Given the description of an element on the screen output the (x, y) to click on. 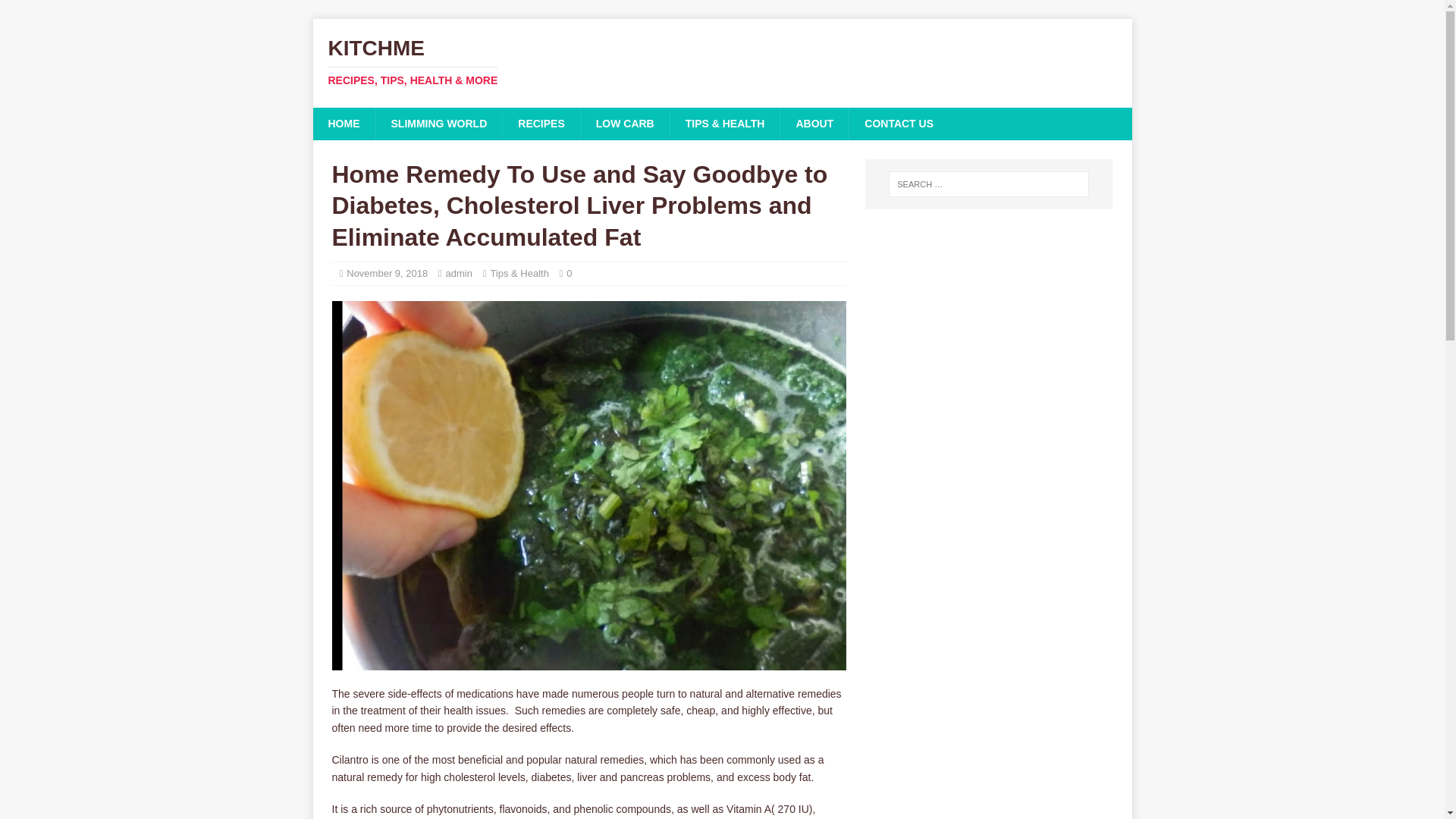
RECIPES (540, 123)
KitchMe (721, 61)
November 9, 2018 (387, 273)
Search (56, 11)
LOW CARB (624, 123)
HOME (343, 123)
SLIMMING WORLD (438, 123)
admin (458, 273)
ABOUT (813, 123)
CONTACT US (898, 123)
